Given the description of an element on the screen output the (x, y) to click on. 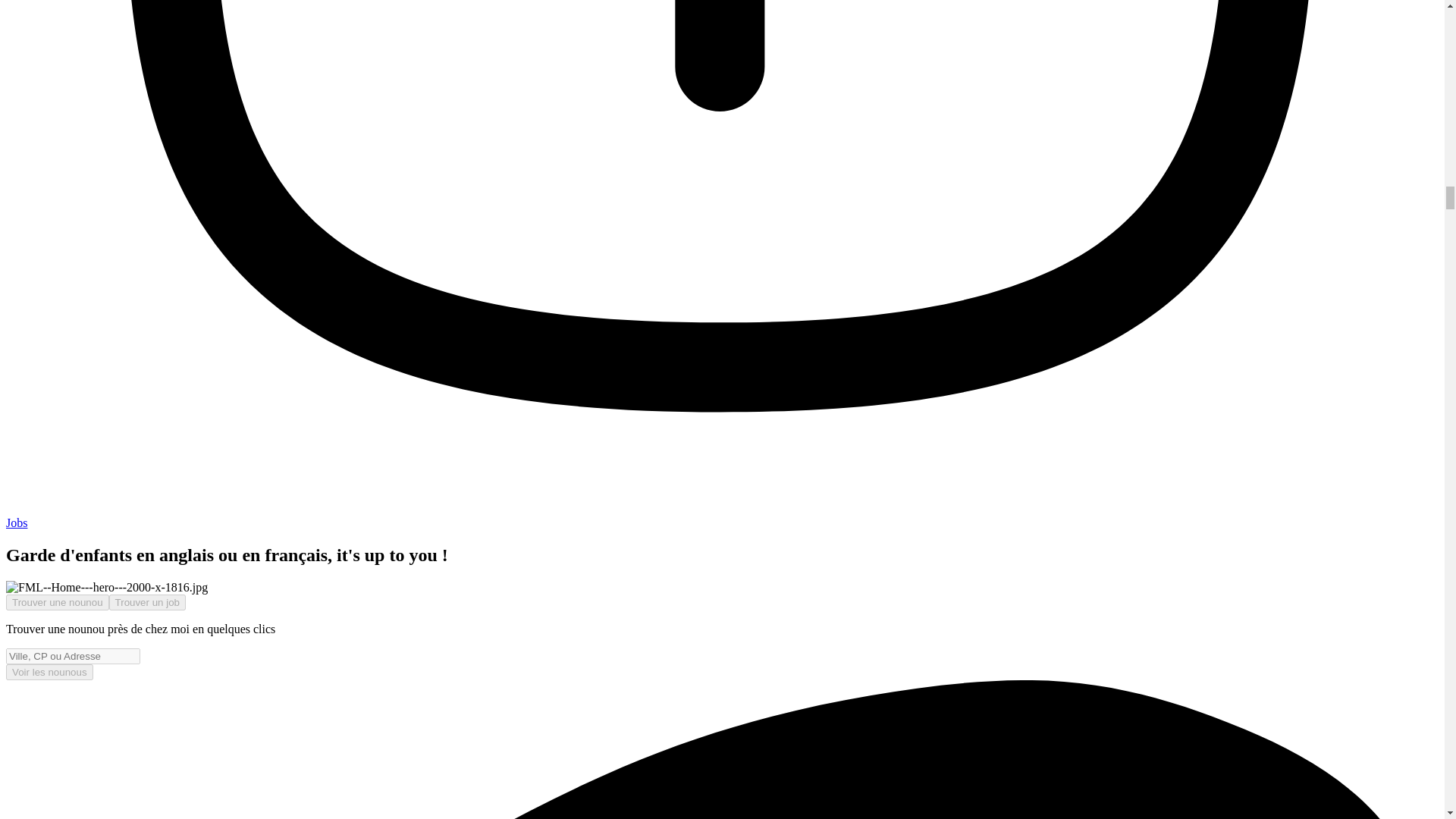
Voir les nounous (49, 672)
Trouver une nounou (57, 602)
Trouver un job (147, 602)
